Given the description of an element on the screen output the (x, y) to click on. 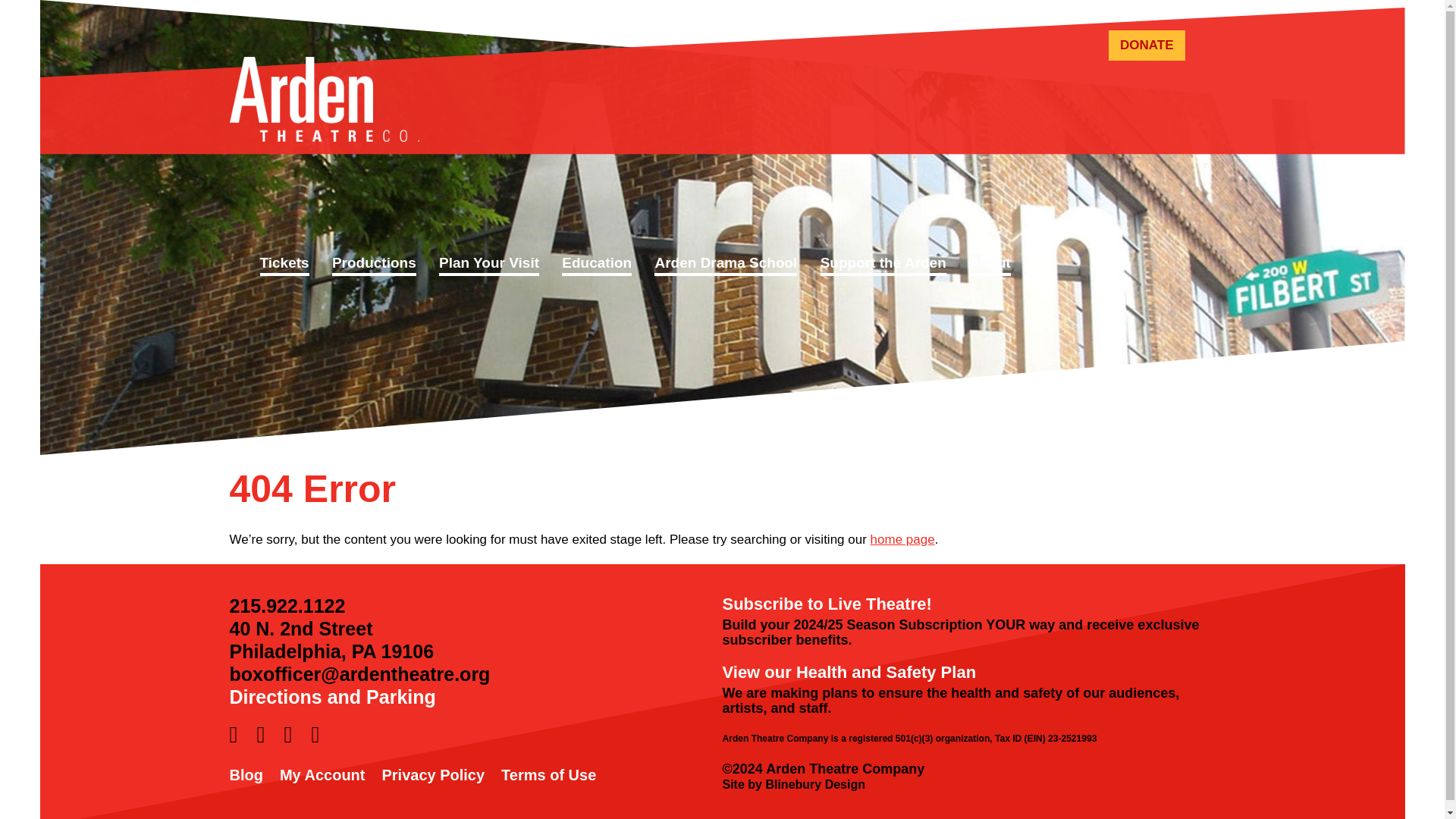
Website Design and Development by Blinebury Design (793, 784)
